Given the description of an element on the screen output the (x, y) to click on. 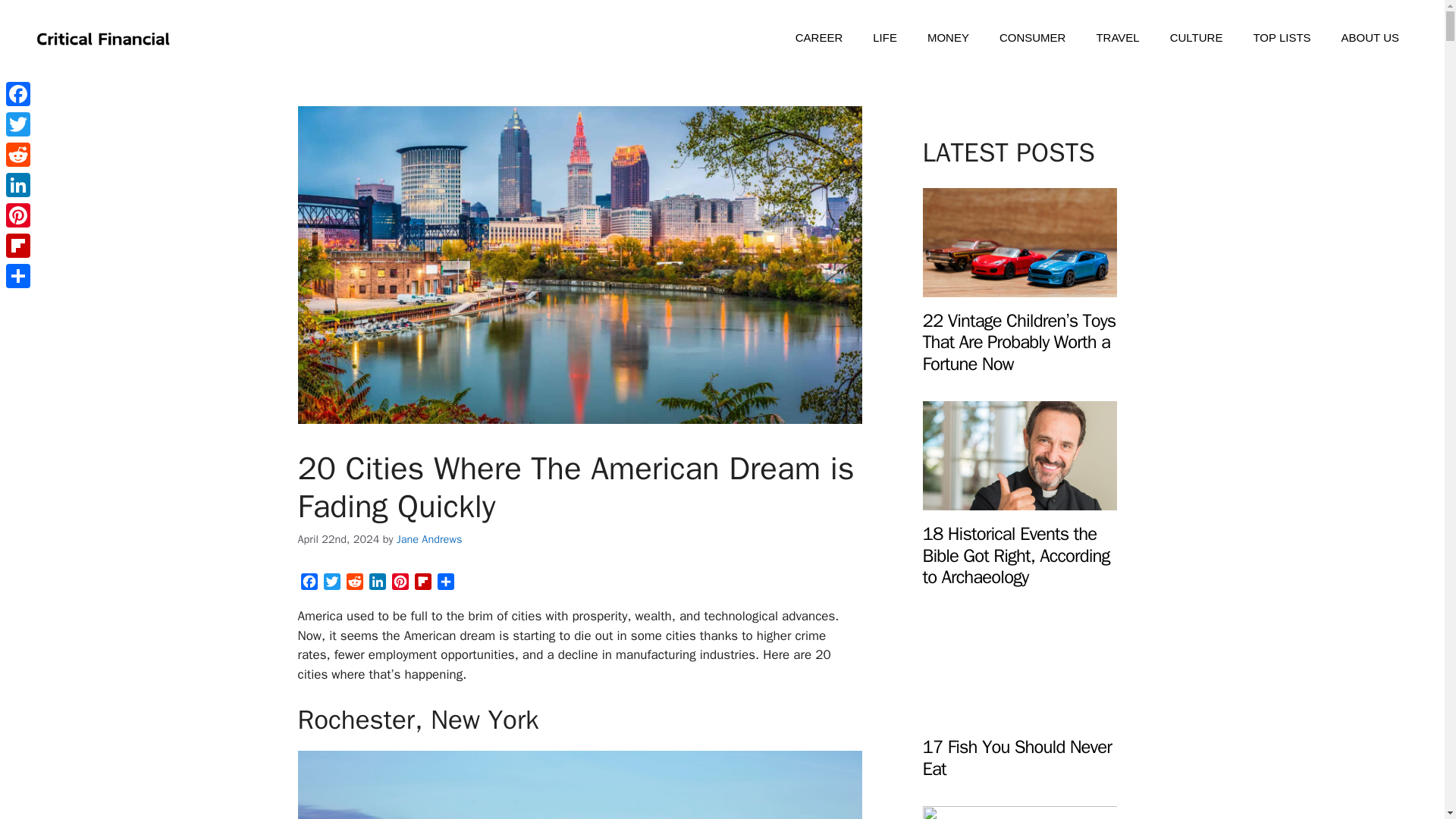
Flipboard (421, 583)
CAREER (819, 37)
Twitter (17, 123)
Reddit (353, 583)
LinkedIn (376, 583)
Reddit (17, 154)
Flipboard (421, 583)
Jane Andrews (429, 539)
Reddit (353, 583)
TRAVEL (1117, 37)
